Given the description of an element on the screen output the (x, y) to click on. 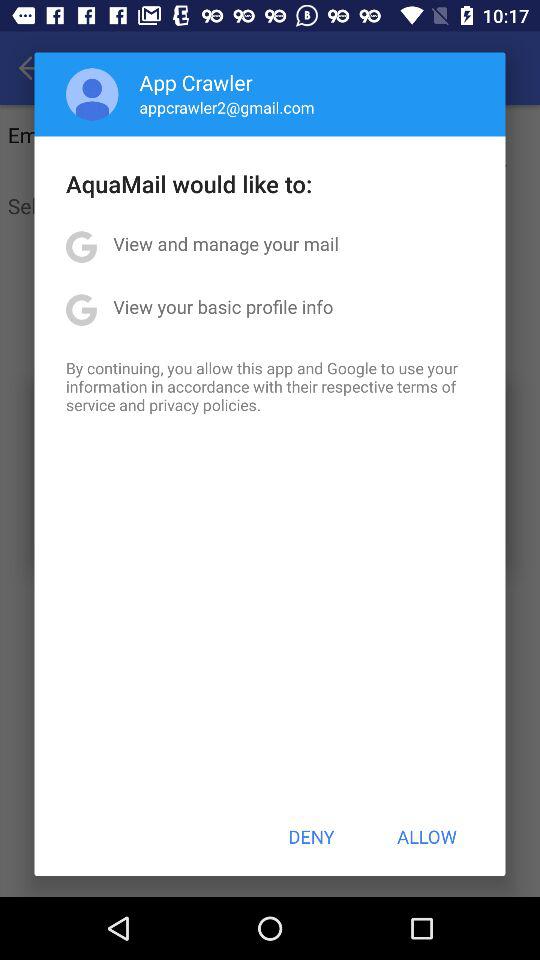
turn on app above appcrawler2@gmail.com (195, 82)
